Given the description of an element on the screen output the (x, y) to click on. 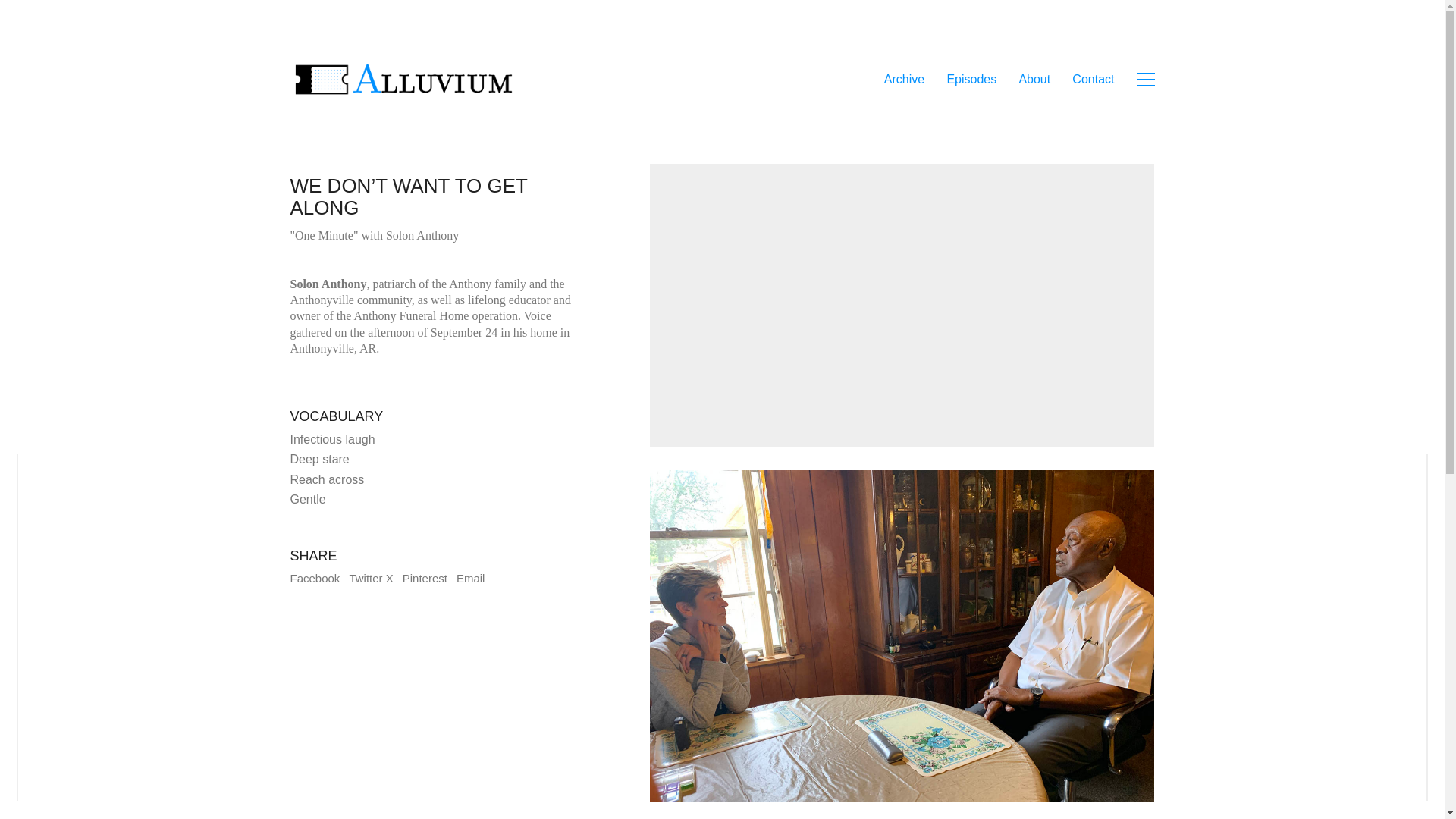
Pinterest (424, 578)
Episodes (970, 78)
Email (470, 578)
Archive (903, 78)
Contact (1092, 78)
Facebook (314, 578)
Twitter X (371, 578)
About (1033, 78)
